Given the description of an element on the screen output the (x, y) to click on. 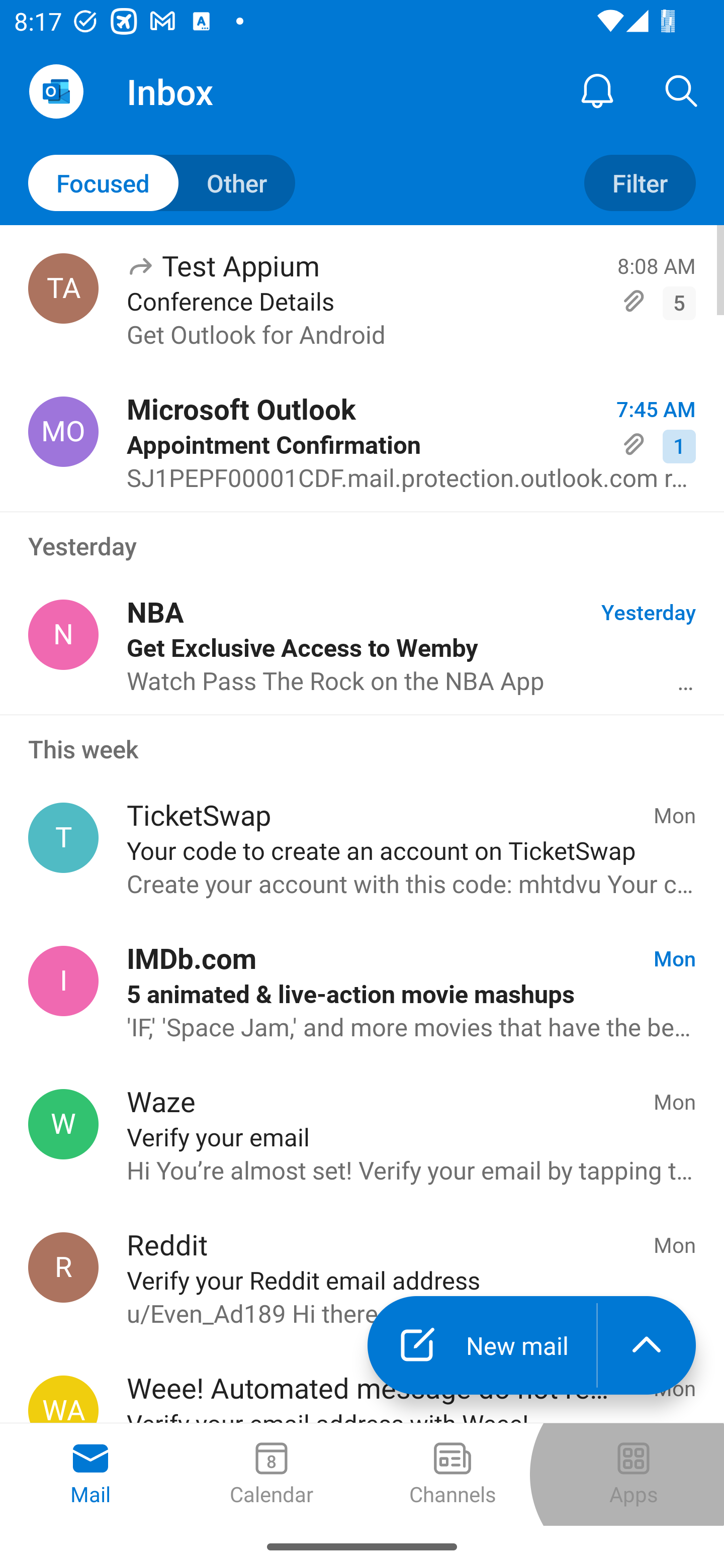
Notification Center (597, 90)
Search, ,  (681, 90)
Open Navigation Drawer (55, 91)
Toggle to other mails (161, 183)
Filter (639, 183)
Test Appium, testappium002@outlook.com (63, 288)
NBA, NBA@email.nba.com (63, 633)
TicketSwap, info@ticketswap.com (63, 837)
IMDb.com, do-not-reply@imdb.com (63, 980)
Waze, noreply@waze.com (63, 1123)
Reddit, noreply@reddit.com (63, 1267)
New mail (481, 1344)
launch the extended action menu (646, 1344)
Calendar (271, 1474)
Channels (452, 1474)
Apps (633, 1474)
